Given the description of an element on the screen output the (x, y) to click on. 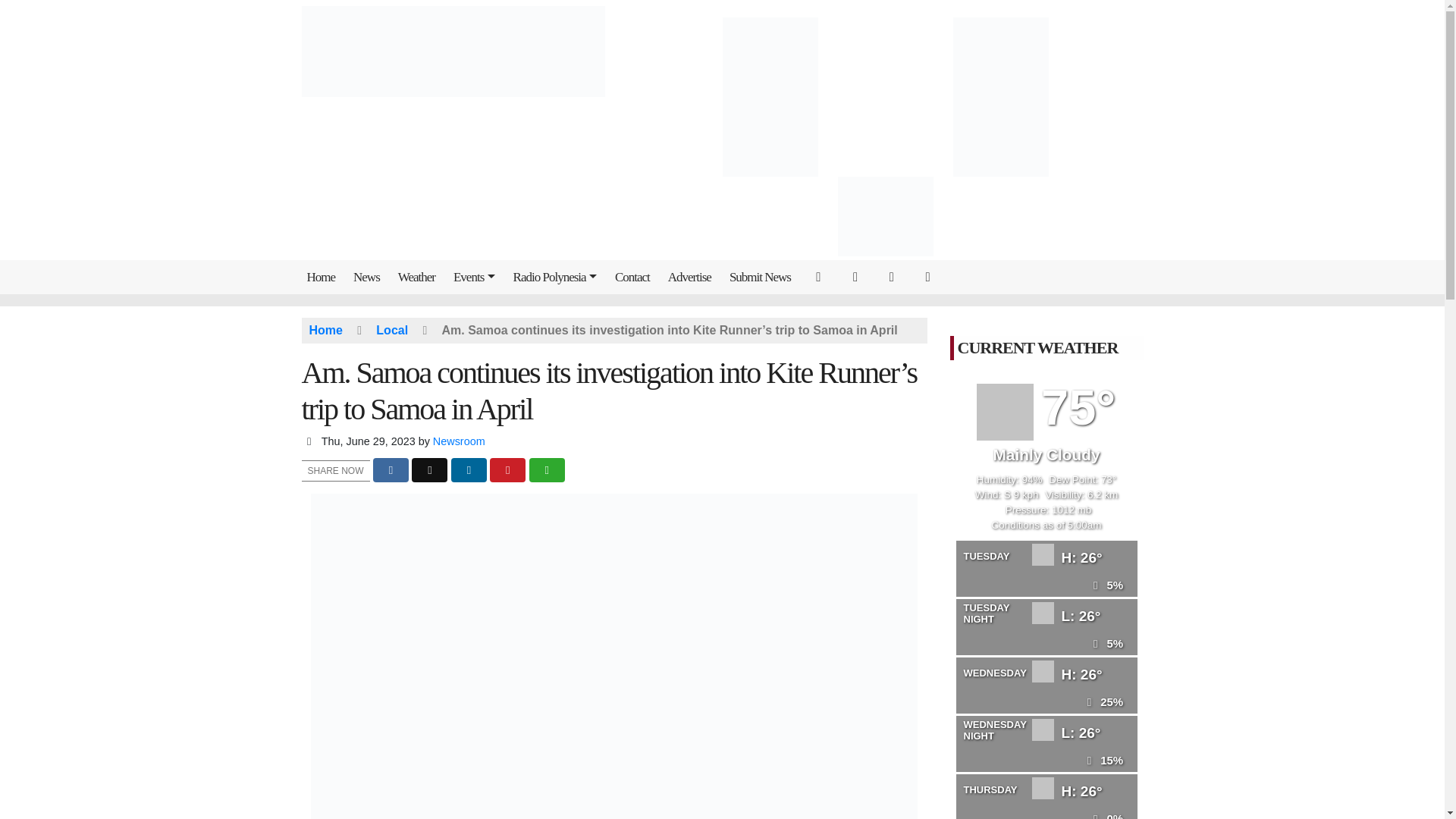
Home (324, 276)
Follow us on Instagram (895, 276)
Get our Android App (930, 276)
Follow us on Facebook (859, 276)
Radio Polynesia (558, 276)
News (369, 276)
Events (477, 276)
Posts by Newsroom (458, 440)
Weather (419, 276)
